Given the description of an element on the screen output the (x, y) to click on. 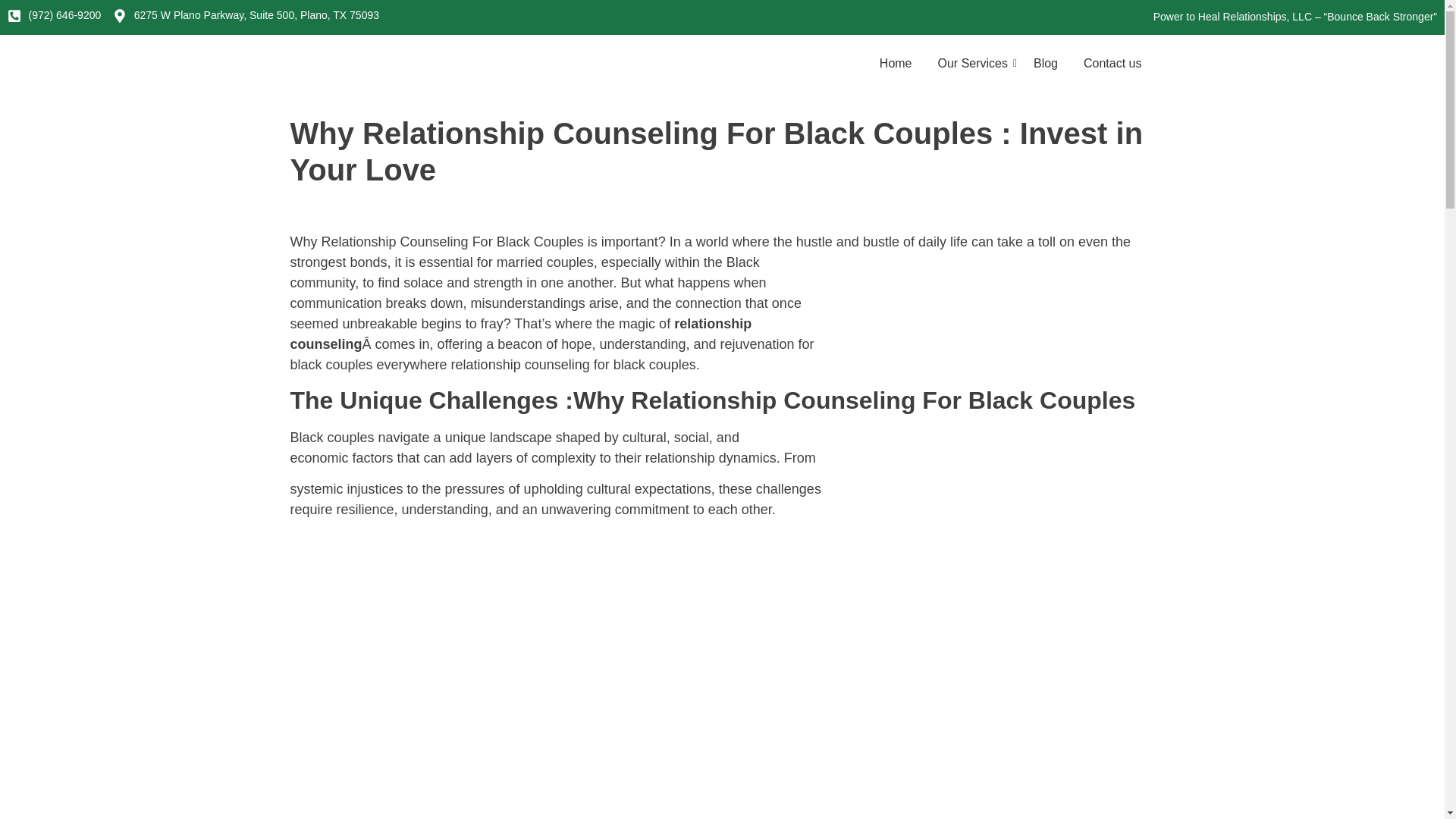
Contact us (1112, 64)
Our Services (973, 64)
Blog (1044, 64)
Home (896, 64)
